Given the description of an element on the screen output the (x, y) to click on. 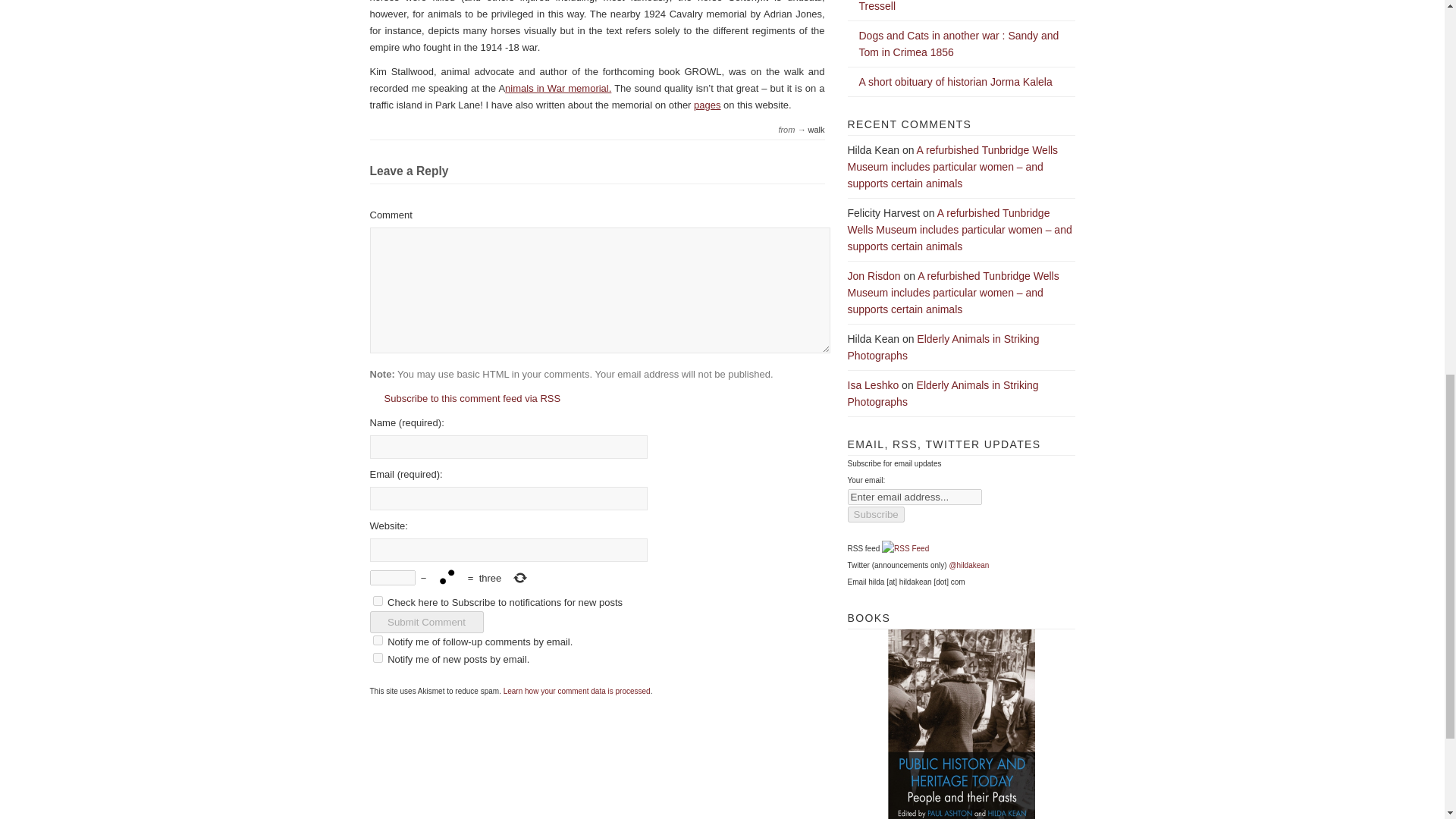
nimals in War memorial. (558, 88)
pages (707, 104)
walk (816, 129)
subscribe (377, 657)
1 (377, 601)
subscribe (377, 640)
Subscribe (875, 514)
Submit Comment (426, 621)
Enter email address... (914, 496)
Subscribe to this comment feed via RSS (464, 398)
Learn how your comment data is processed (576, 691)
Submit Comment (426, 621)
